Given the description of an element on the screen output the (x, y) to click on. 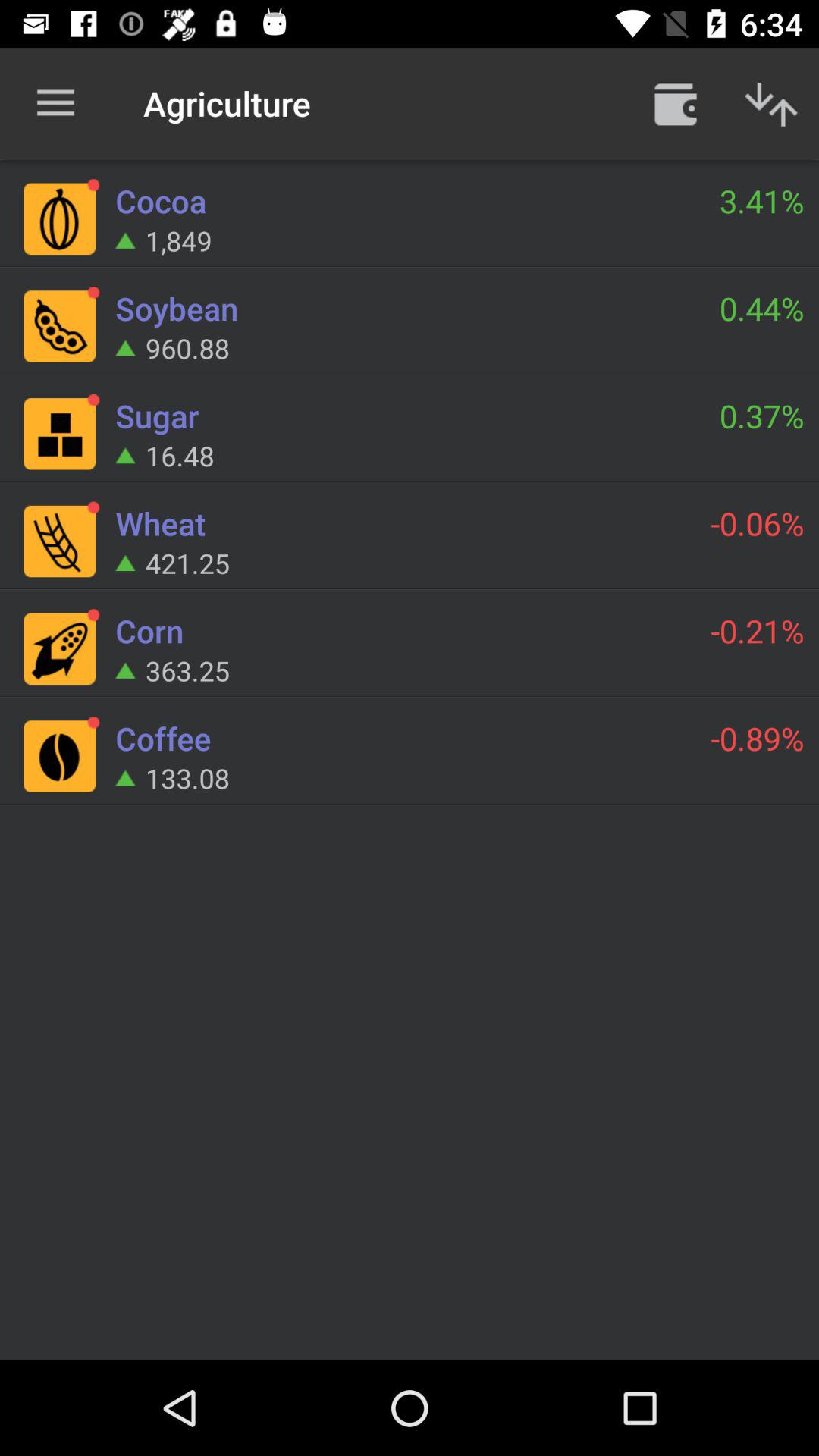
press item above the 3.41% item (771, 103)
